Given the description of an element on the screen output the (x, y) to click on. 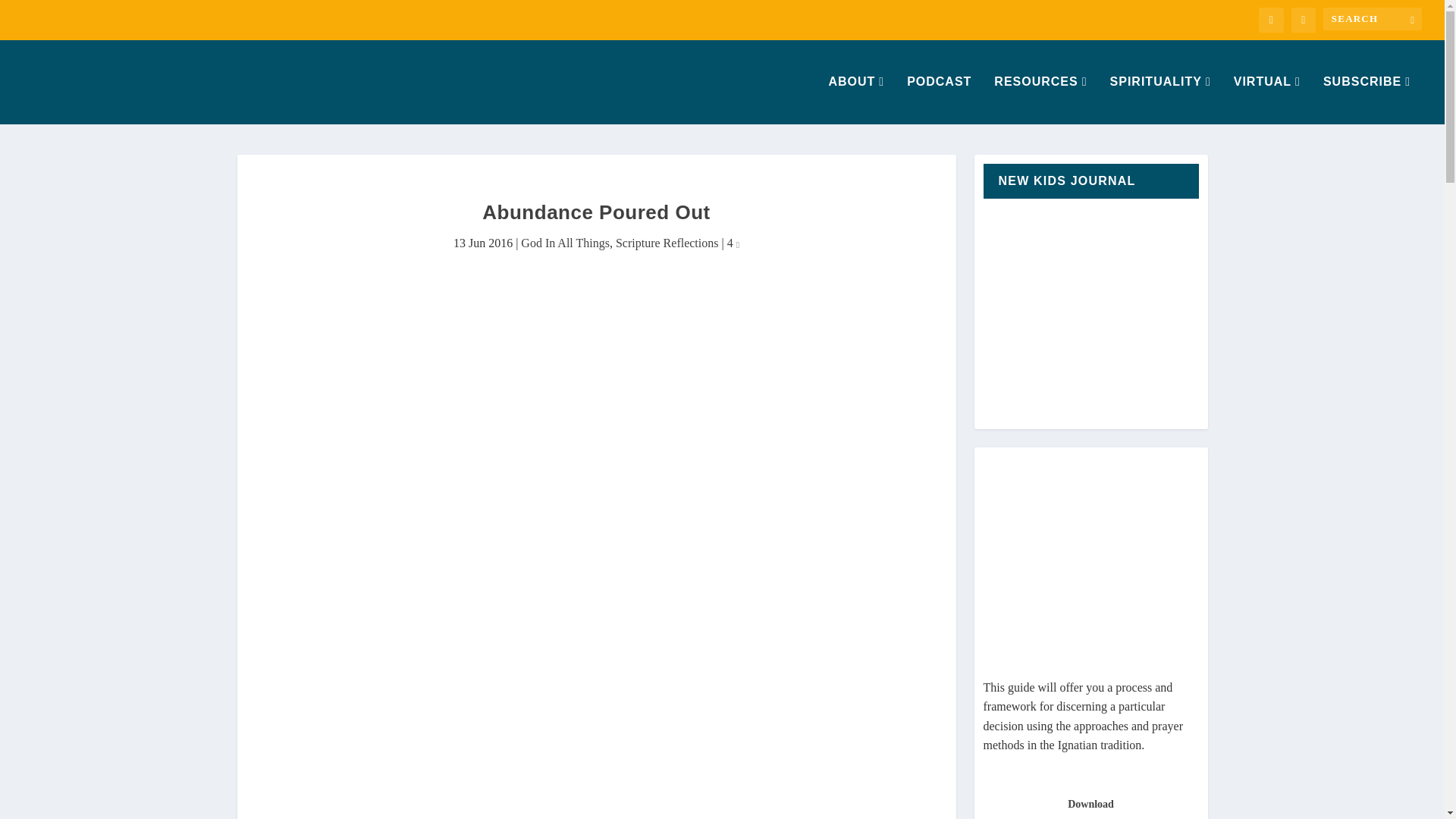
SPIRITUALITY (1160, 100)
Search for: (1372, 18)
RESOURCES (1040, 100)
ABOUT (855, 100)
PODCAST (939, 100)
